Given the description of an element on the screen output the (x, y) to click on. 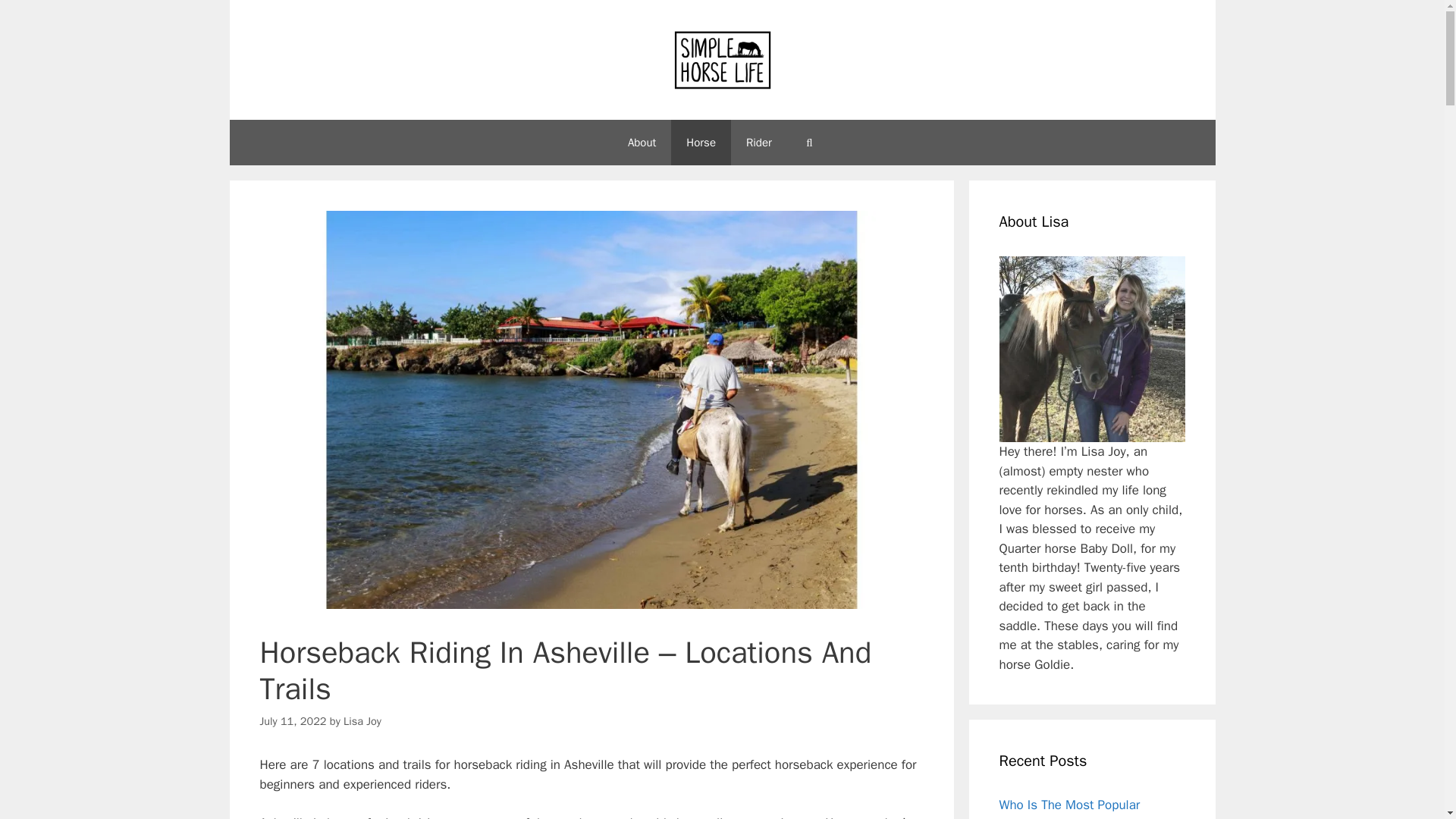
Horse (700, 142)
6:54 pm (292, 721)
July 11, 2022 (292, 721)
Rider (758, 142)
View all posts by Lisa Joy (362, 721)
About (641, 142)
Who Is The Most Popular Character On Yellowstone? (1074, 807)
Simple Horse Life (721, 59)
Simple Horse Life (721, 59)
Lisa Joy (362, 721)
